Given the description of an element on the screen output the (x, y) to click on. 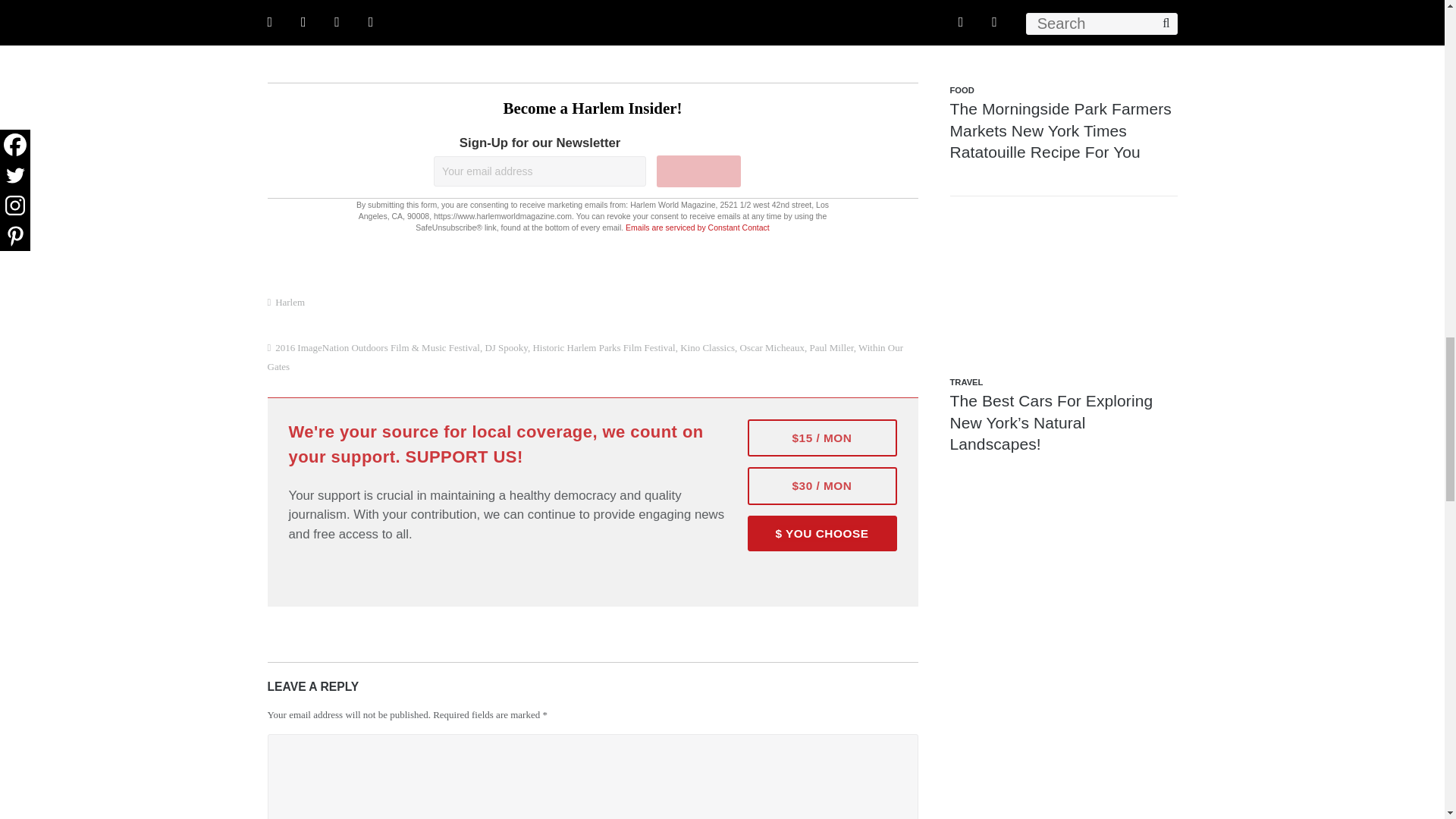
DJ Spooky (505, 347)
Harlem (289, 301)
Sign up (698, 171)
Emails are serviced by Constant Contact (698, 226)
Sign up (698, 171)
